Given the description of an element on the screen output the (x, y) to click on. 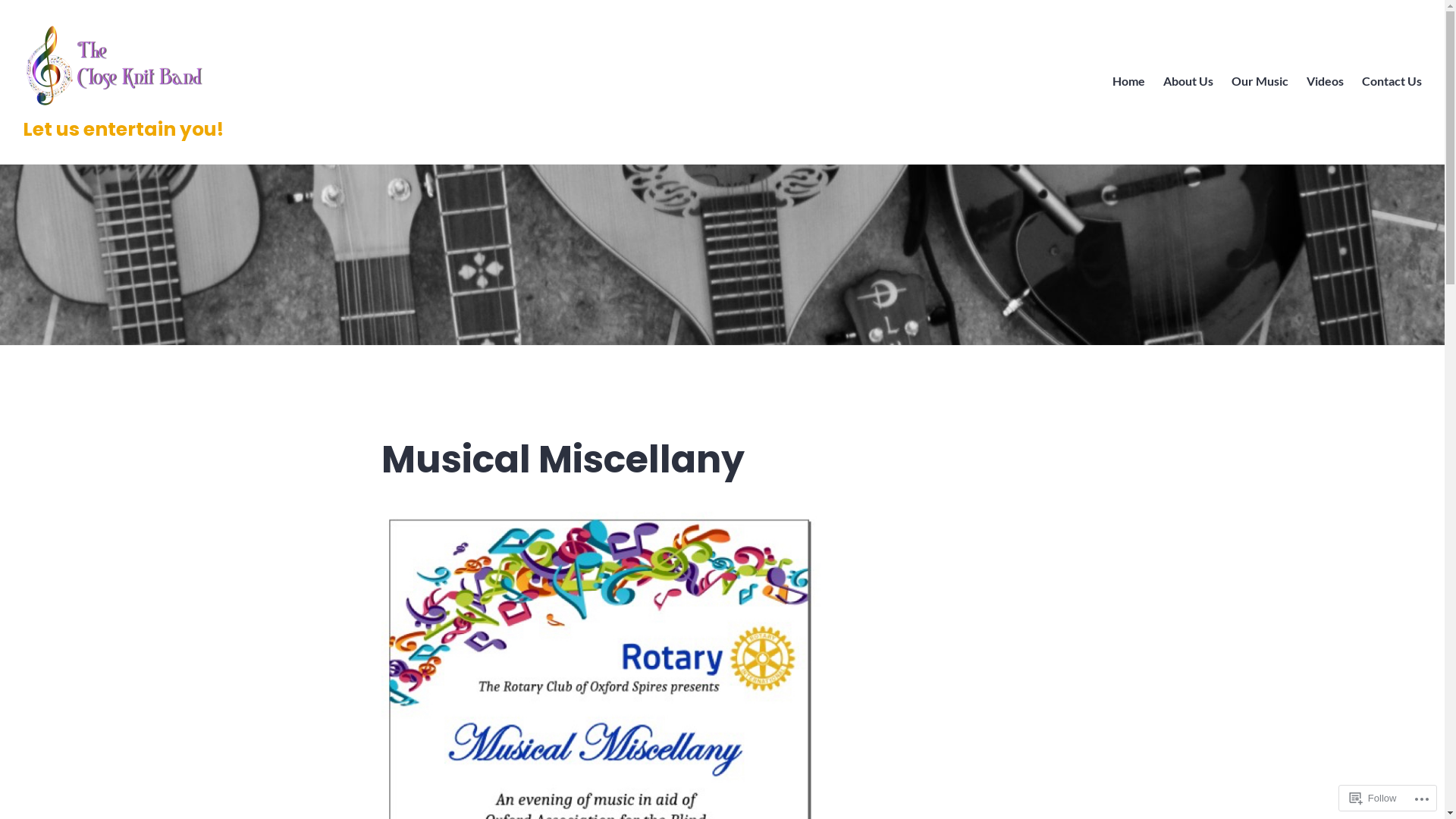
Videos Element type: text (1324, 81)
Let us entertain you! Element type: text (122, 129)
Follow Element type: text (1372, 797)
Contact Us Element type: text (1391, 81)
About Us Element type: text (1188, 81)
Our Music Element type: text (1259, 81)
Home Element type: text (1128, 81)
